Given the description of an element on the screen output the (x, y) to click on. 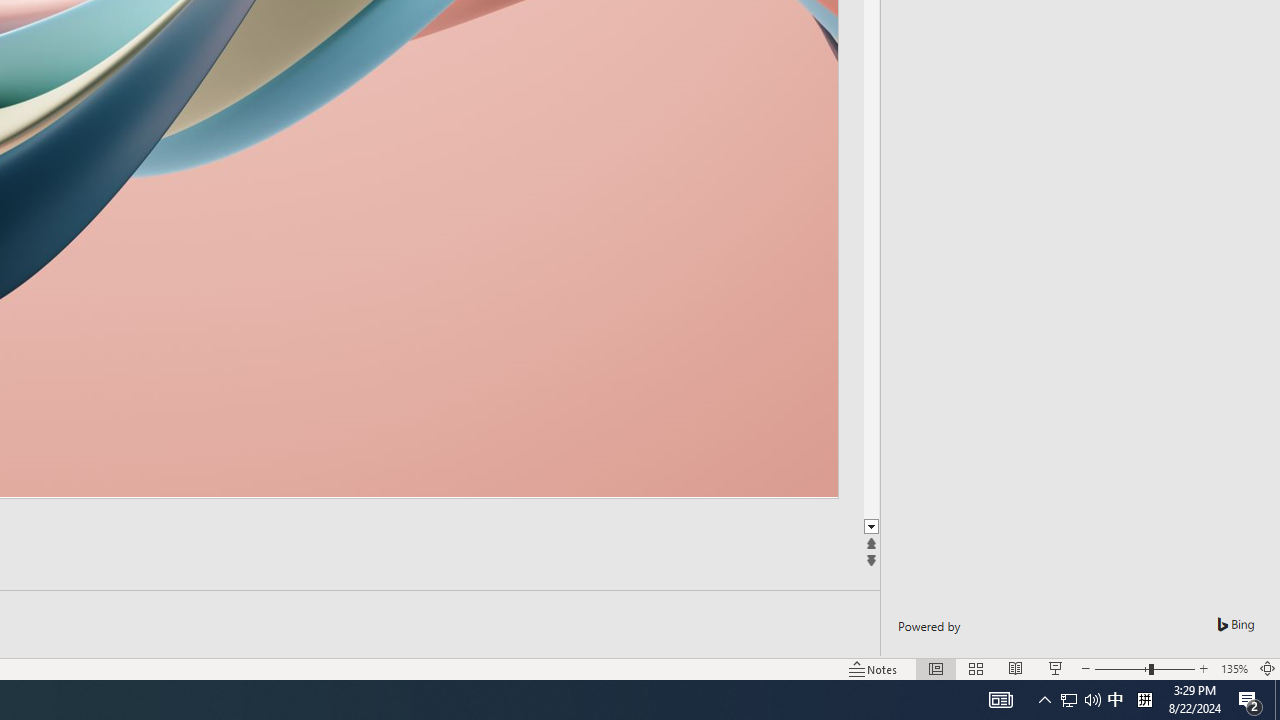
Line down (871, 527)
Zoom 135% (1234, 668)
